Given the description of an element on the screen output the (x, y) to click on. 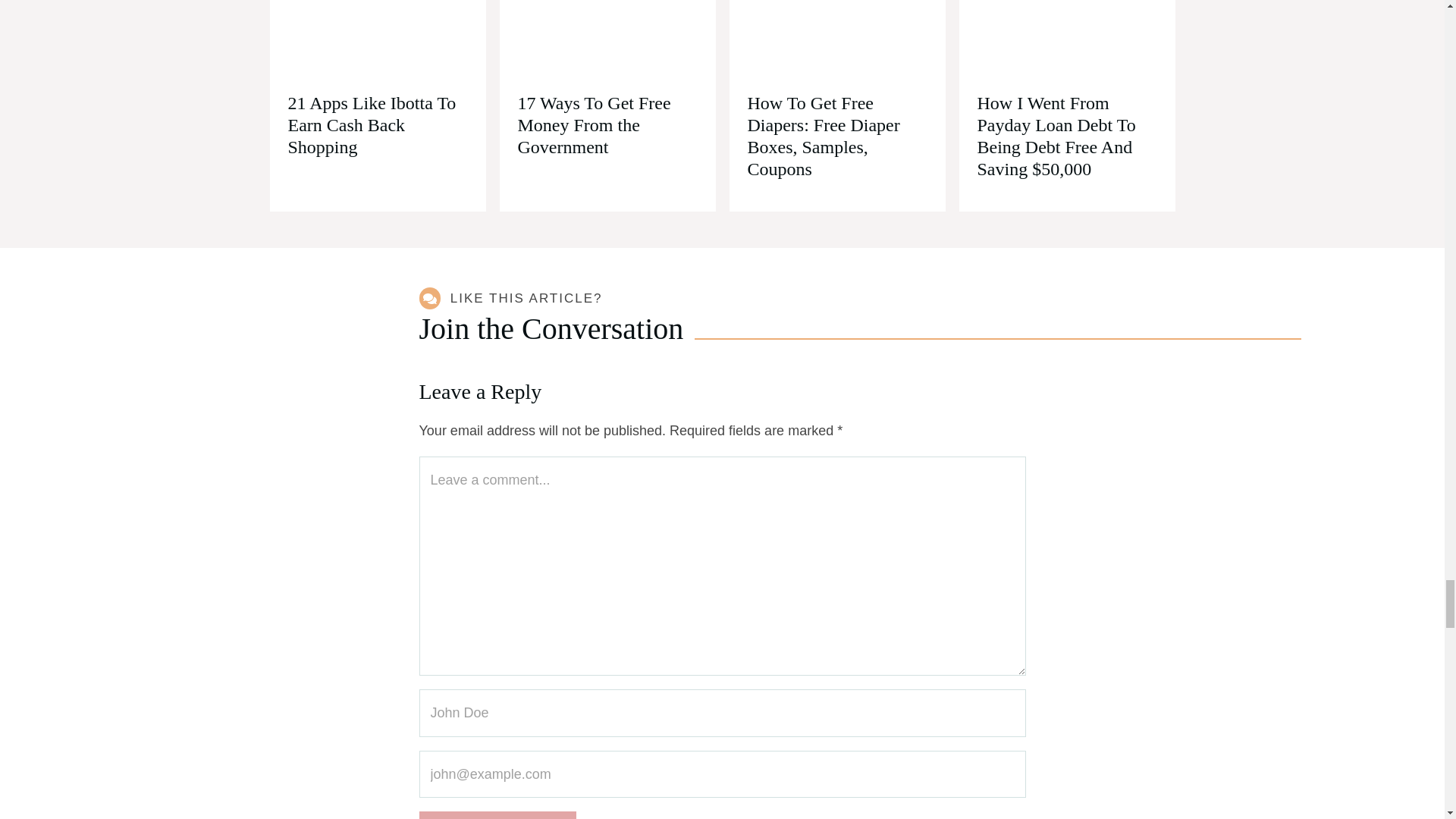
Post Comment (497, 815)
21 Apps Like Ibotta To Earn Cash Back Shopping (377, 40)
21 Apps Like Ibotta To Earn Cash Back Shopping (372, 125)
